Given the description of an element on the screen output the (x, y) to click on. 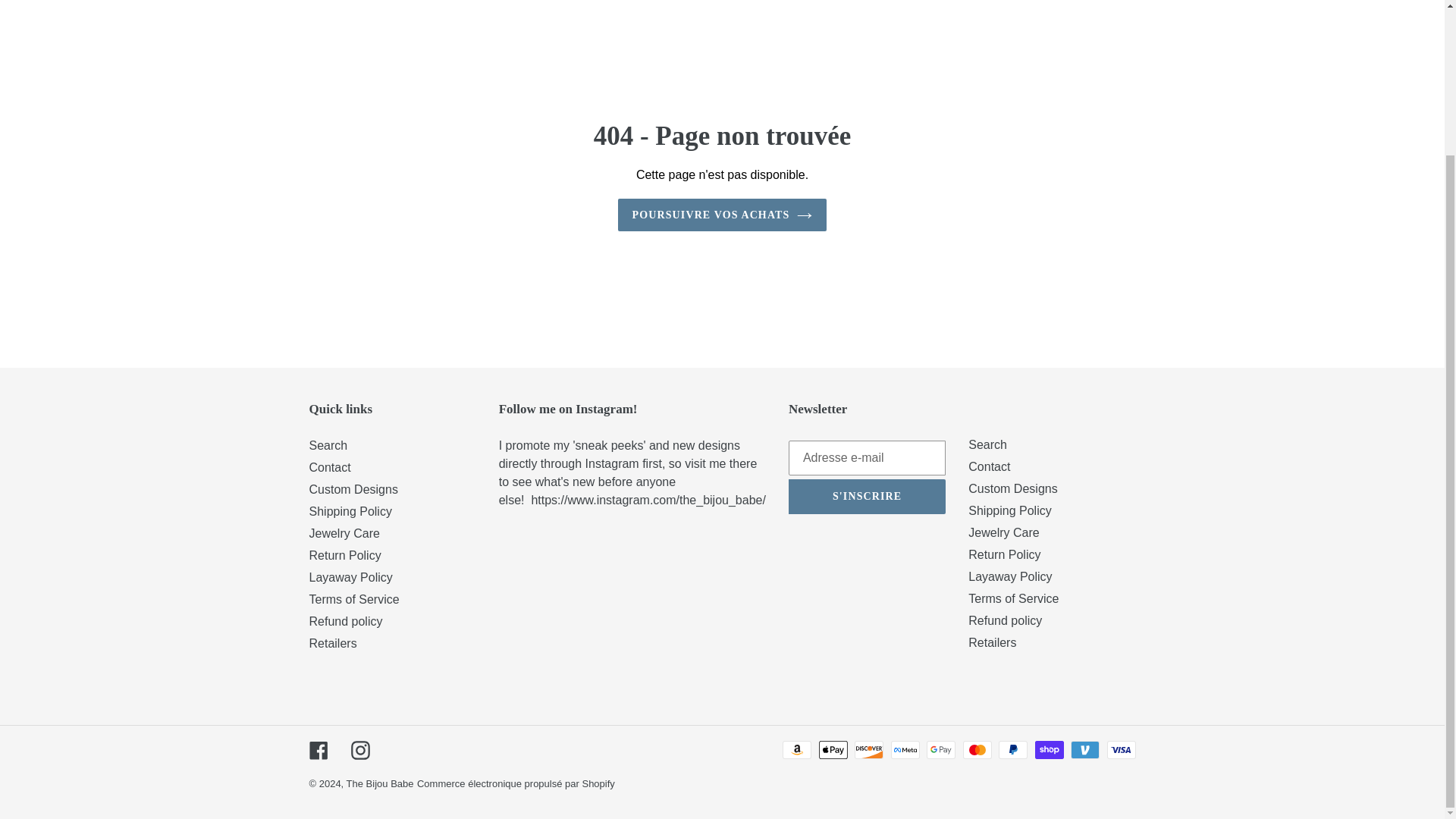
Search (327, 445)
Contact (329, 467)
Custom Designs (352, 489)
POURSUIVRE VOS ACHATS (722, 214)
